Given the description of an element on the screen output the (x, y) to click on. 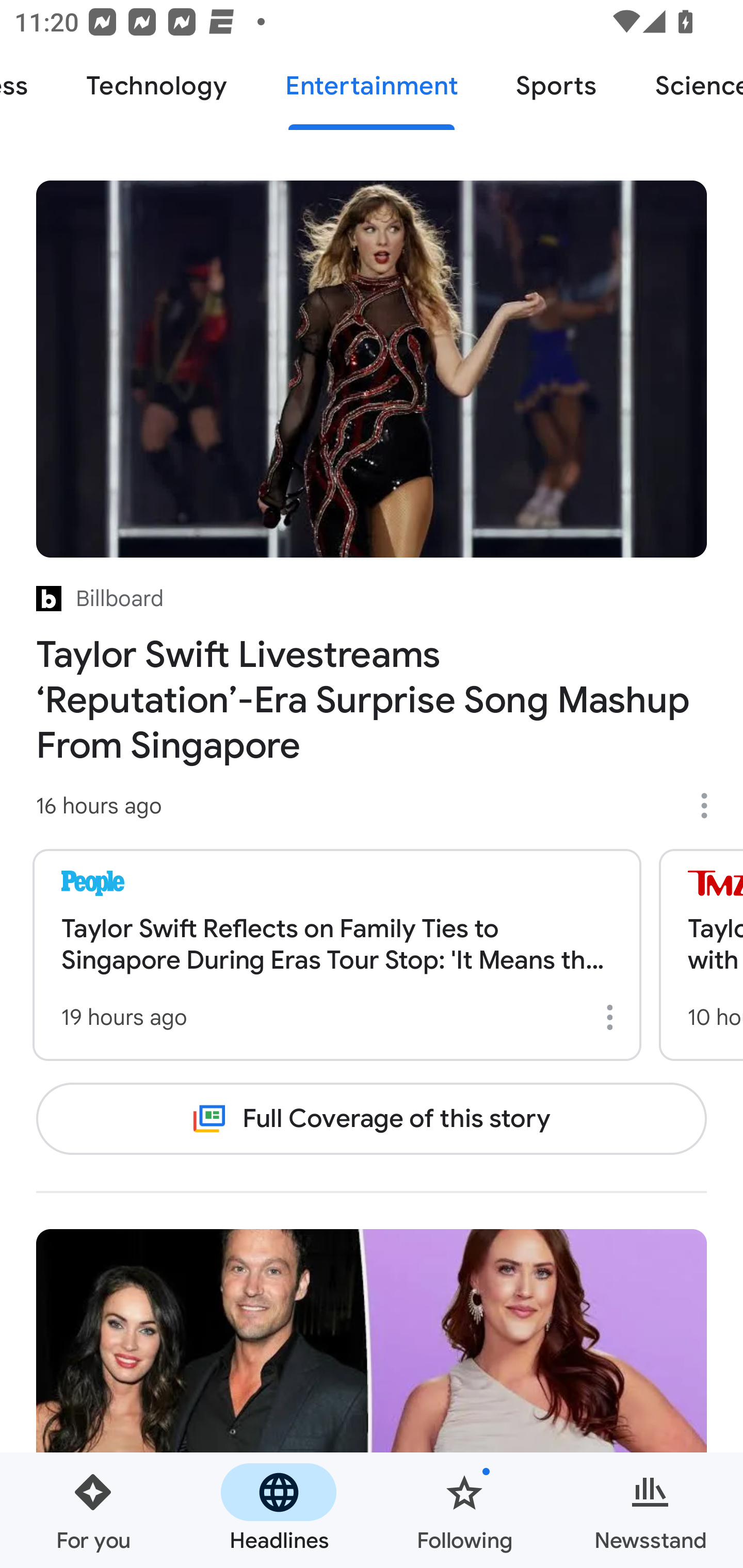
Technology (155, 86)
Sports (556, 86)
Science (684, 86)
More options (711, 805)
More options (613, 1017)
Full Coverage of this story (371, 1118)
For you (92, 1509)
Headlines (278, 1509)
Following (464, 1509)
Newsstand (650, 1509)
